Given the description of an element on the screen output the (x, y) to click on. 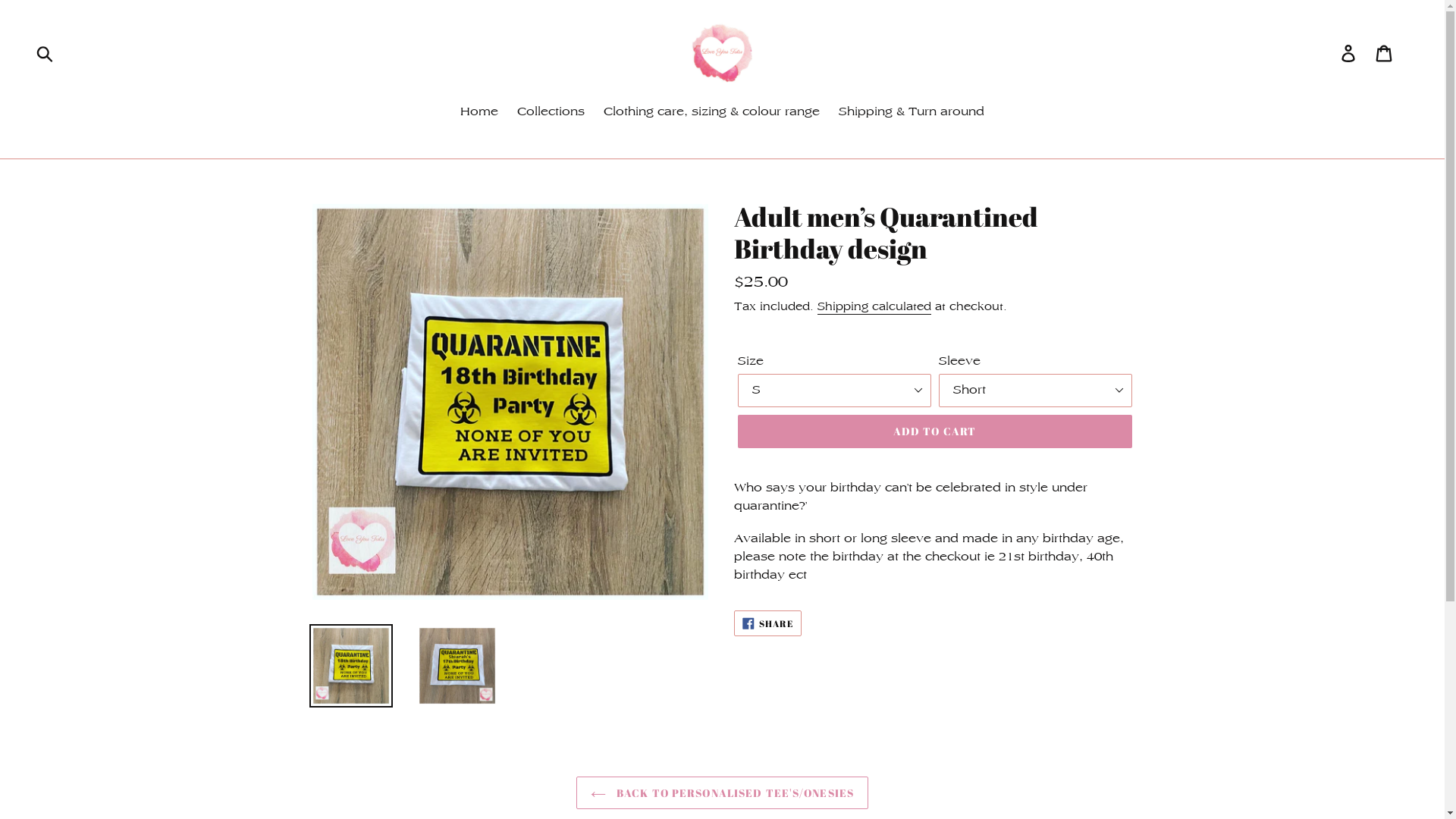
Collections Element type: text (550, 112)
Log in Element type: text (1349, 52)
Clothing care, sizing & colour range Element type: text (711, 112)
Cart Element type: text (1384, 52)
ADD TO CART Element type: text (934, 431)
Submit Element type: text (45, 52)
BACK TO PERSONALISED TEE'S/ONESIES Element type: text (722, 792)
SHARE
SHARE ON FACEBOOK Element type: text (768, 623)
Home Element type: text (478, 112)
Shipping calculated Element type: text (874, 306)
Shipping & Turn around Element type: text (911, 112)
